Given the description of an element on the screen output the (x, y) to click on. 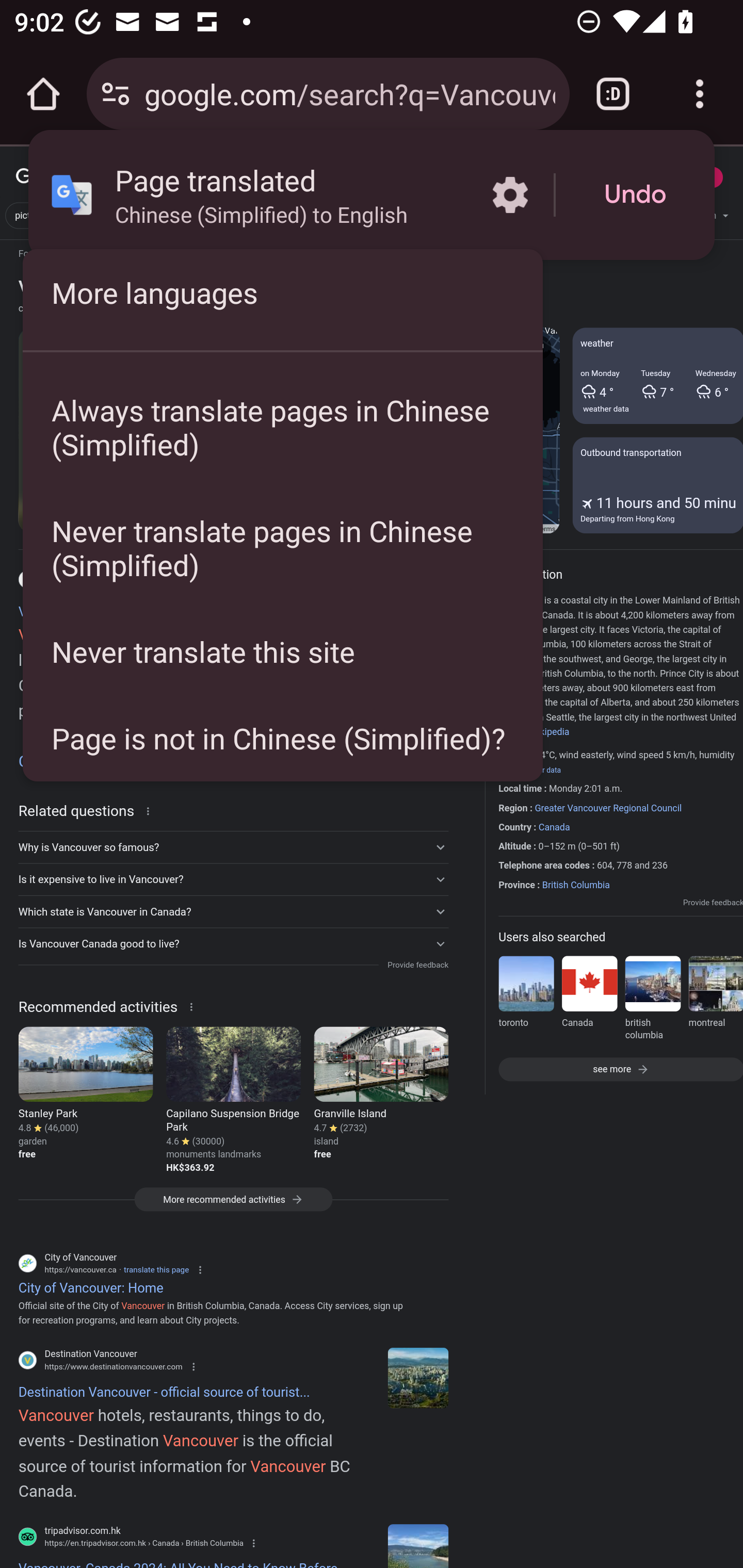
More languages (283, 292)
Always translate pages in Chinese (Simplified) (283, 426)
Never translate pages in Chinese (Simplified) (283, 547)
Never translate this site (283, 651)
Page is not in Chinese (Simplified)? (283, 737)
